Given the description of an element on the screen output the (x, y) to click on. 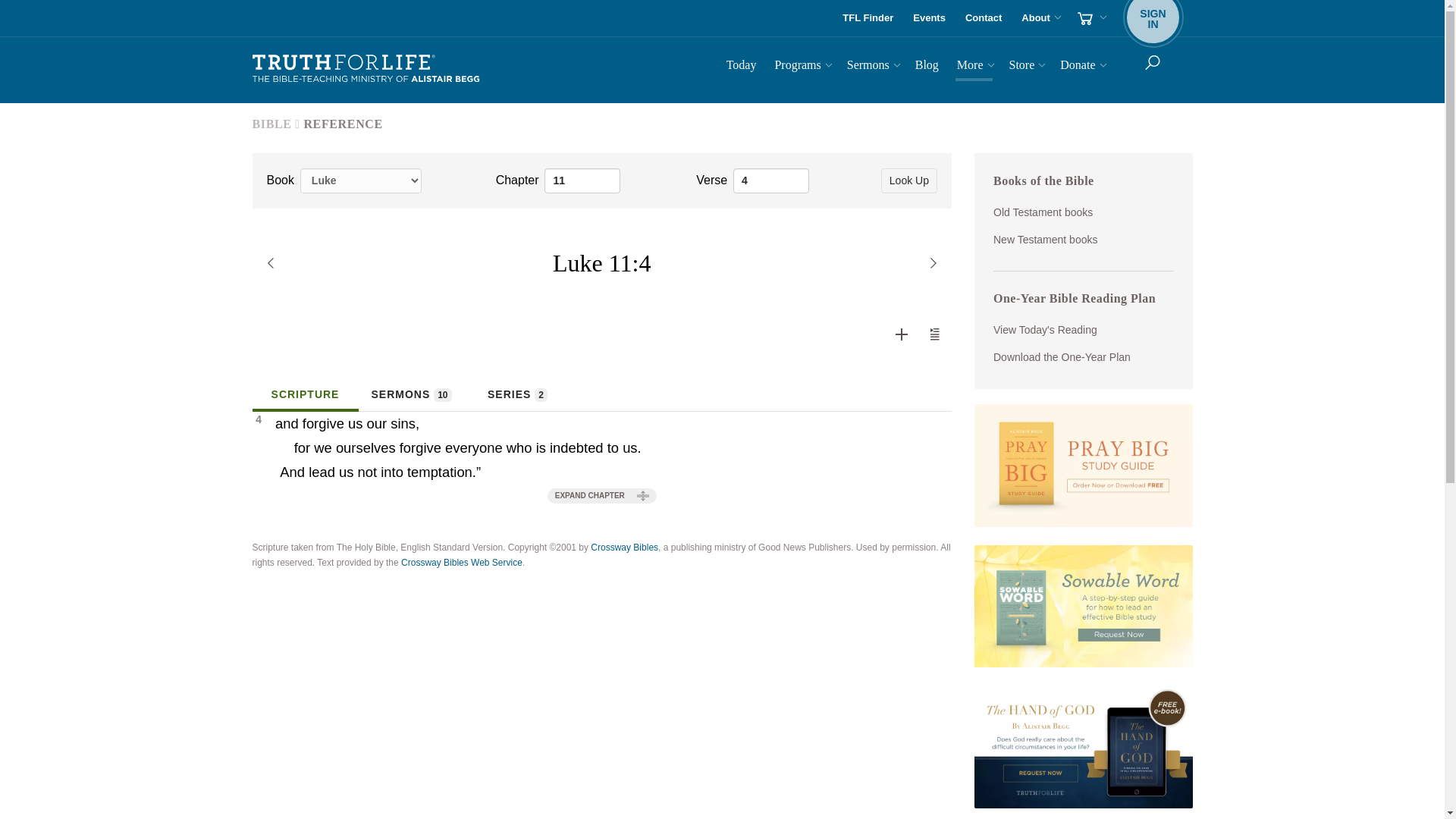
Today (741, 66)
Add to Listen Queue (934, 334)
Listen Queue (935, 334)
cart (1152, 18)
TFL Finder (1090, 18)
Add to My Library (867, 18)
Events (901, 334)
Contact (929, 18)
11 (983, 18)
Truth For Life (582, 180)
4 (365, 68)
Add to My Library (771, 180)
Programs (901, 334)
About (801, 66)
